Given the description of an element on the screen output the (x, y) to click on. 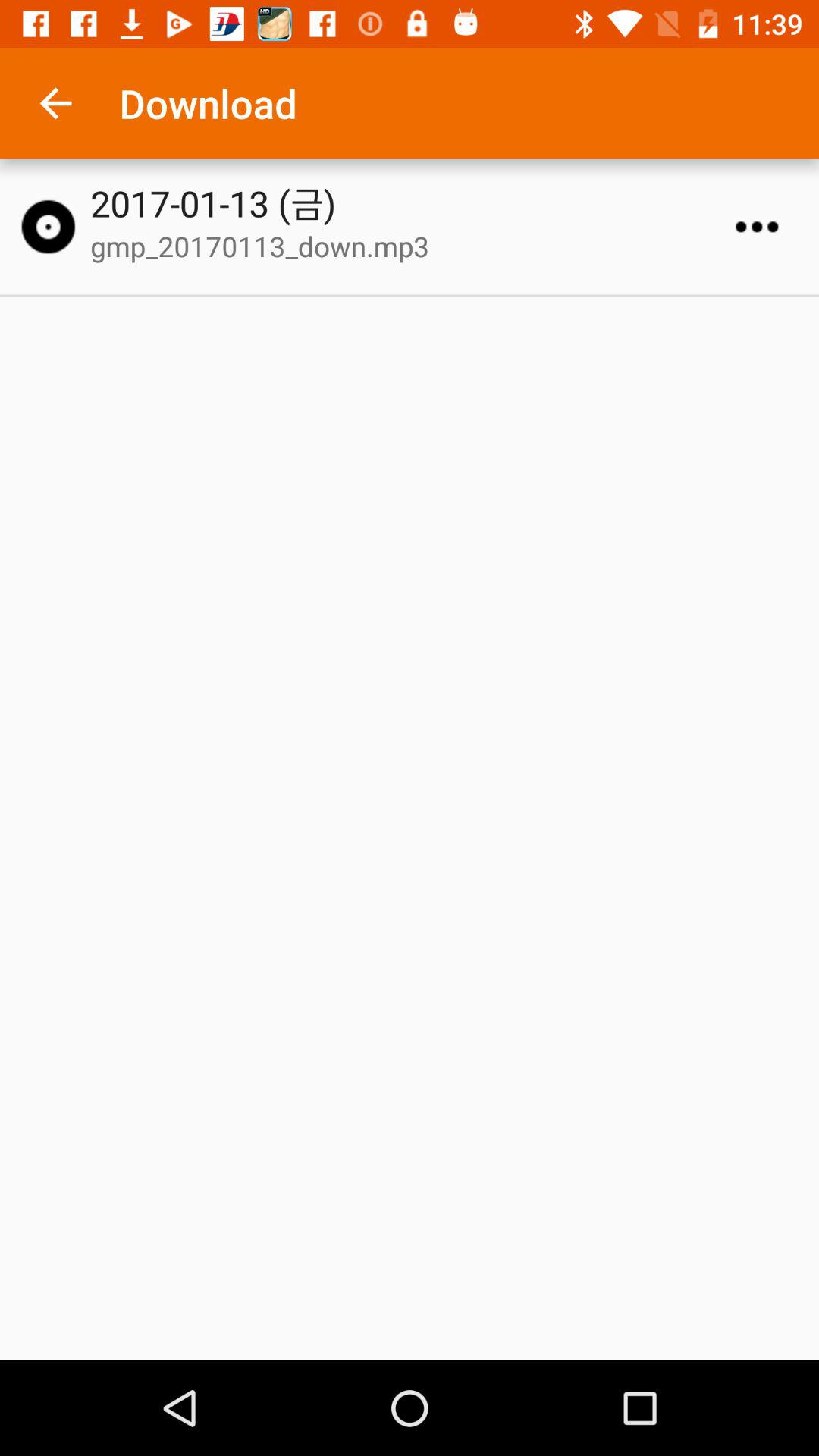
click 2017 01 13 icon (416, 203)
